Given the description of an element on the screen output the (x, y) to click on. 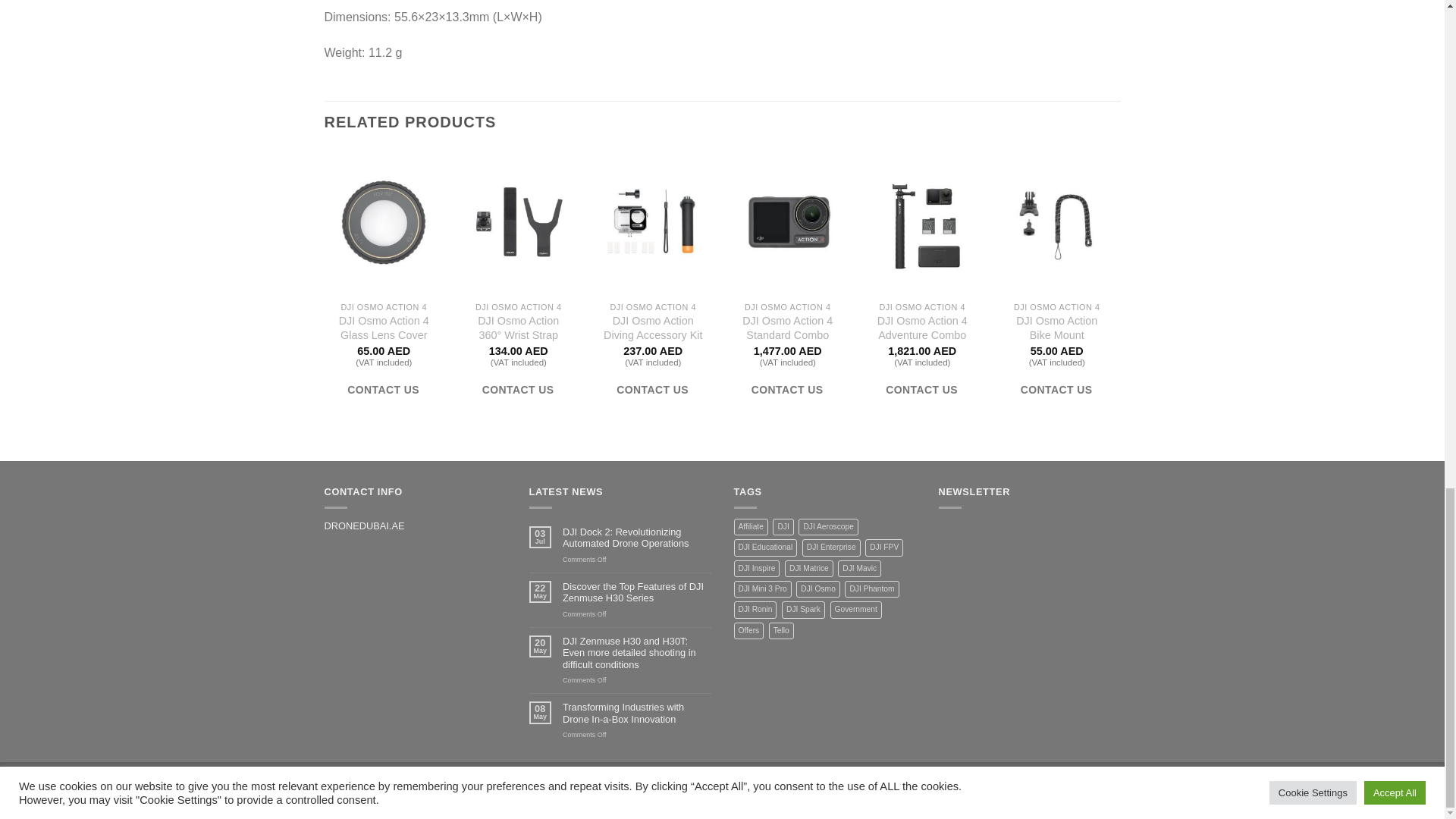
DJI Dock 2: Revolutionizing Automated Drone Operations (636, 537)
Discover the Top Features of DJI Zenmuse H30 Series (636, 592)
Transforming Industries with Drone In-a-Box Innovation (636, 712)
